Given the description of an element on the screen output the (x, y) to click on. 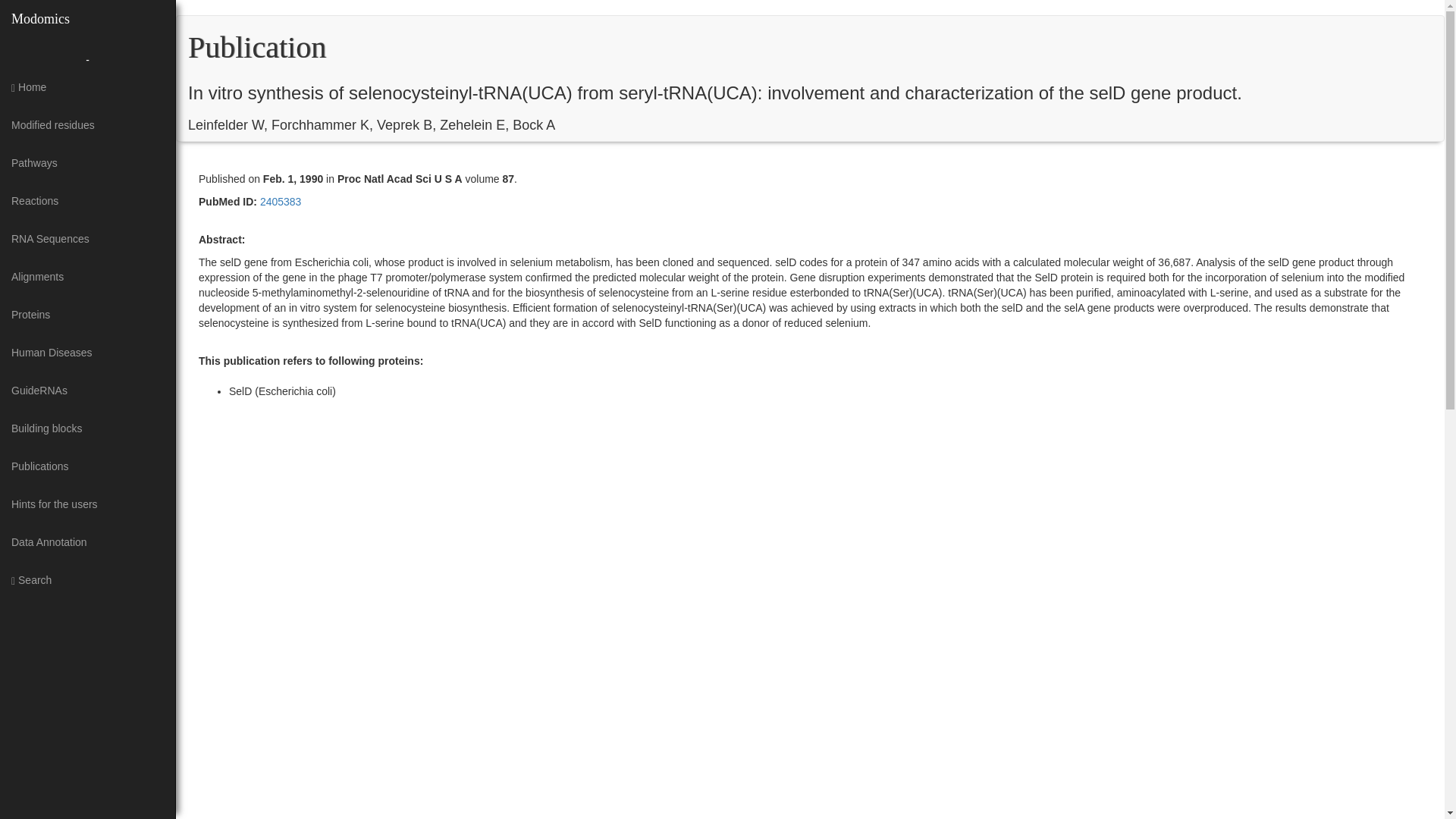
Modomics (40, 18)
Hints for the users (87, 504)
Search (87, 579)
Modified residues (87, 125)
Pathways (87, 162)
Human Diseases (87, 352)
Publications (87, 466)
Building blocks (87, 428)
RNA Sequences (87, 238)
Home (87, 86)
Data Annotation (87, 542)
Proteins (87, 314)
2405383 (279, 201)
GuideRNAs (87, 390)
Alignments (87, 276)
